Given the description of an element on the screen output the (x, y) to click on. 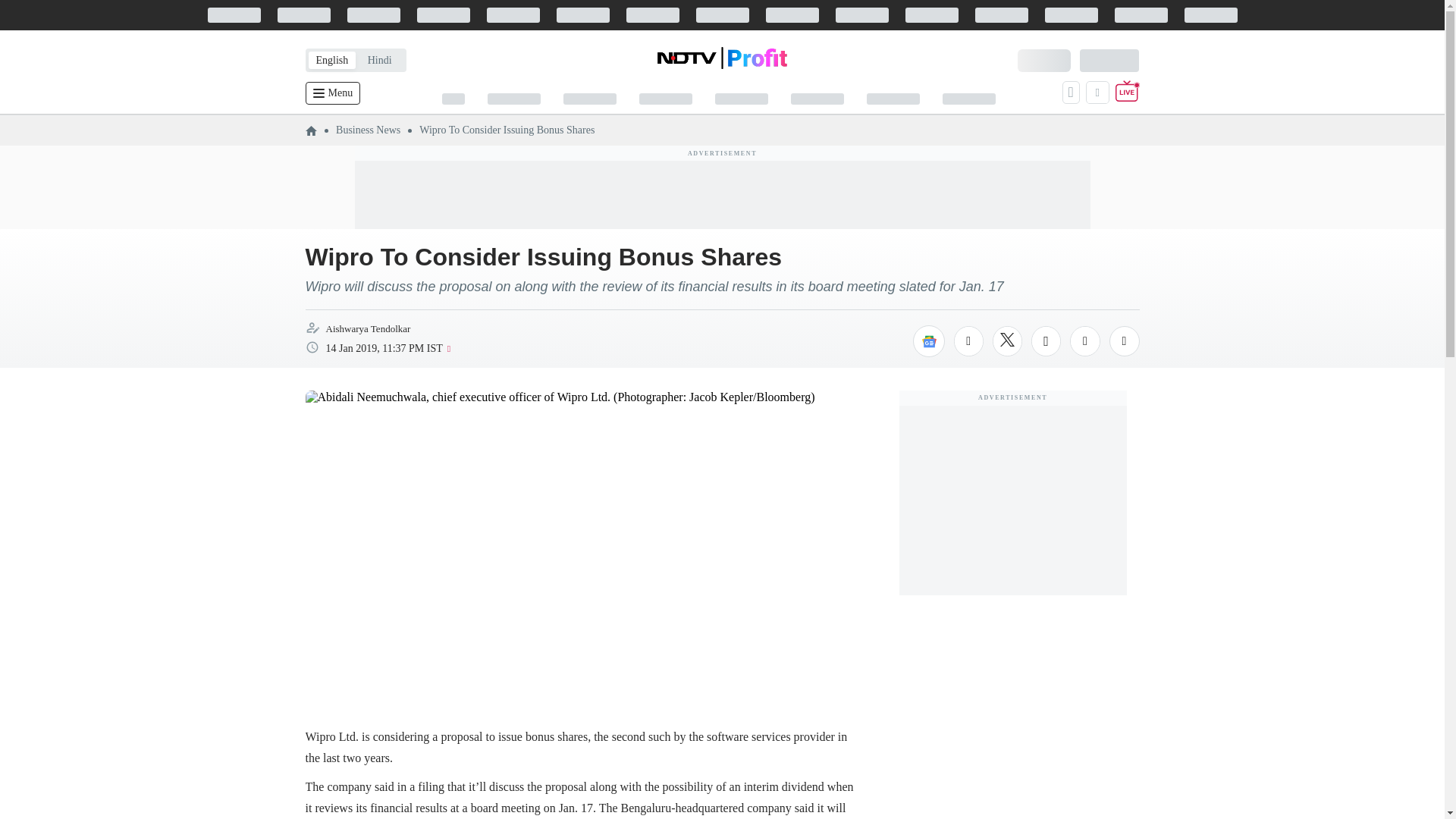
Hindi (378, 59)
Live TV (1127, 92)
English (331, 59)
Menu (331, 92)
Hindi (379, 59)
